Given the description of an element on the screen output the (x, y) to click on. 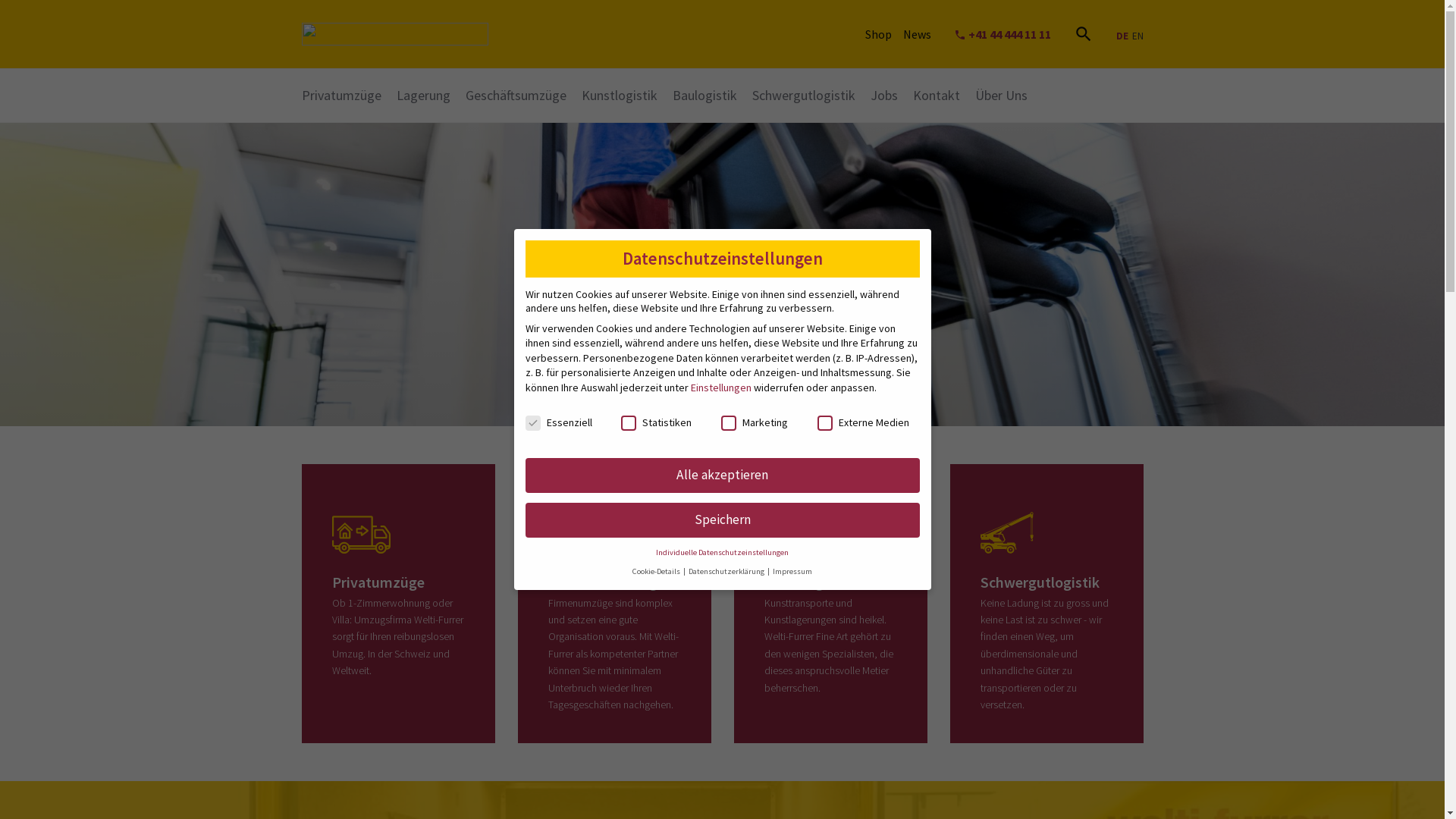
EN Element type: text (1136, 35)
DE Element type: text (1122, 35)
Speichern Element type: text (721, 519)
Cookie-Details Element type: text (656, 571)
Jobs Element type: text (883, 95)
Shop Element type: text (877, 33)
Impressum Element type: text (792, 571)
Lagerung Element type: text (422, 95)
Individuelle Datenschutzeinstellungen Element type: text (721, 552)
News Element type: text (916, 33)
phone
+41 44 444 11 11 Element type: text (1002, 33)
Schwergutlogistik Element type: text (803, 95)
Kunstlogistik Element type: text (618, 95)
Baulogistik Element type: text (703, 95)
Alle akzeptieren Element type: text (721, 475)
Einstellungen Element type: text (720, 387)
Kontakt Element type: text (936, 95)
